Given the description of an element on the screen output the (x, y) to click on. 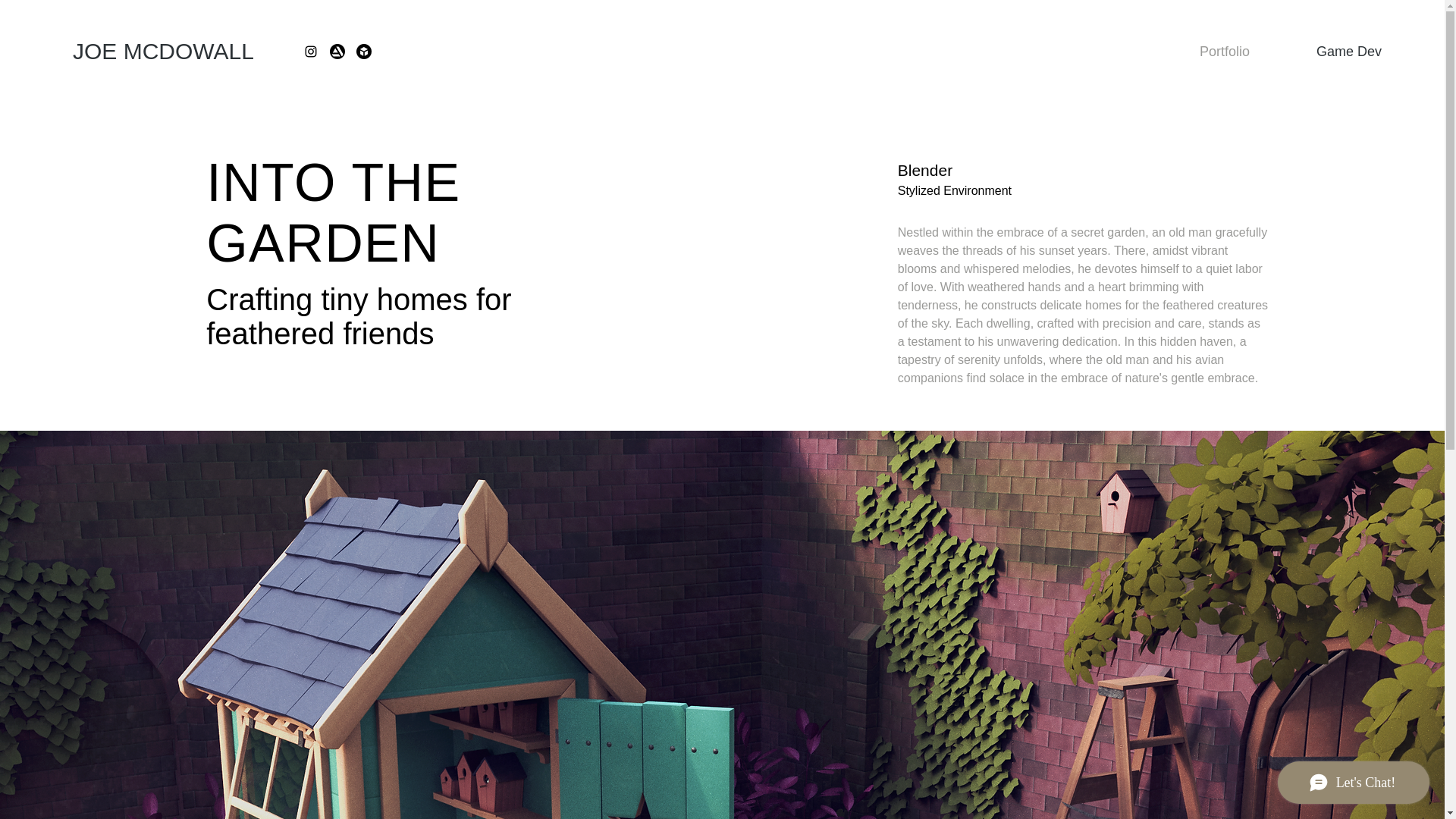
Game Dev (1326, 51)
Portfolio (1197, 51)
JOE MCDOWALL (162, 51)
